Given the description of an element on the screen output the (x, y) to click on. 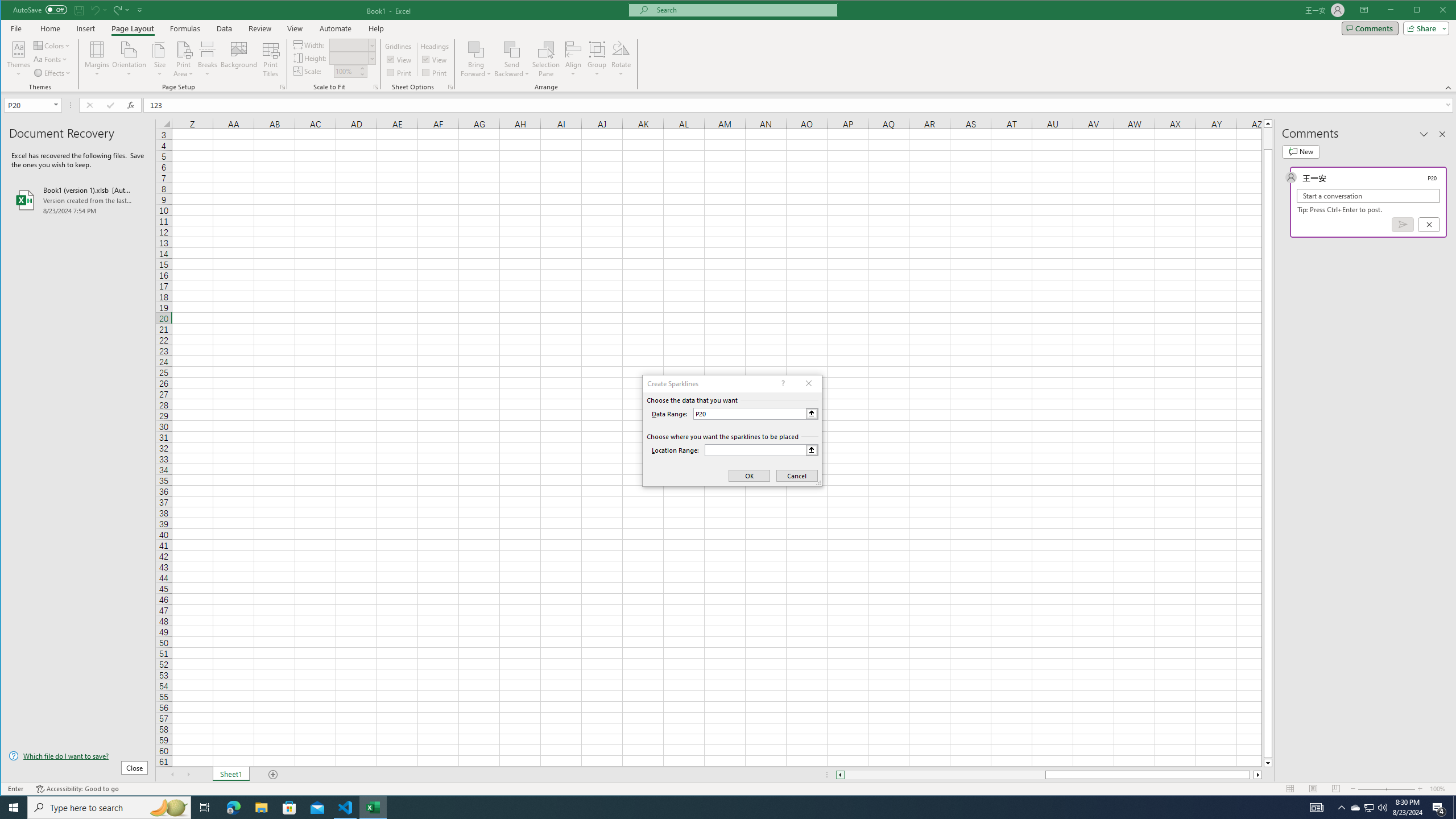
Send Backward (512, 59)
Close (1445, 11)
Name Box (32, 105)
Margins (96, 59)
Less (361, 73)
View (294, 28)
Selection Pane... (546, 59)
Share (1423, 27)
Column left (839, 774)
Accessibility Checker Accessibility: Good to go (77, 788)
Size (159, 59)
Redo (116, 9)
Scale (345, 71)
Width (349, 45)
